Given the description of an element on the screen output the (x, y) to click on. 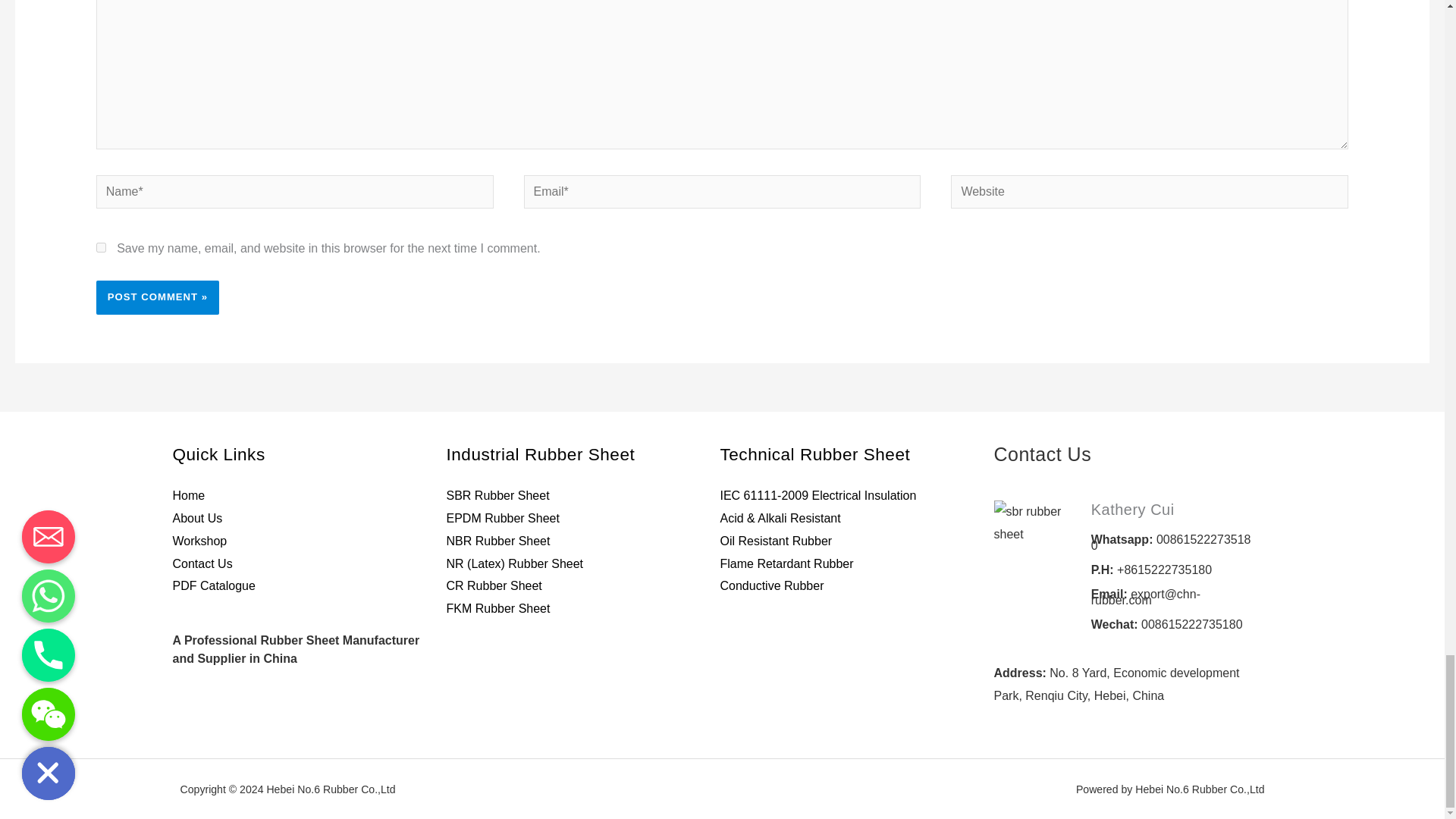
yes (101, 247)
